Given the description of an element on the screen output the (x, y) to click on. 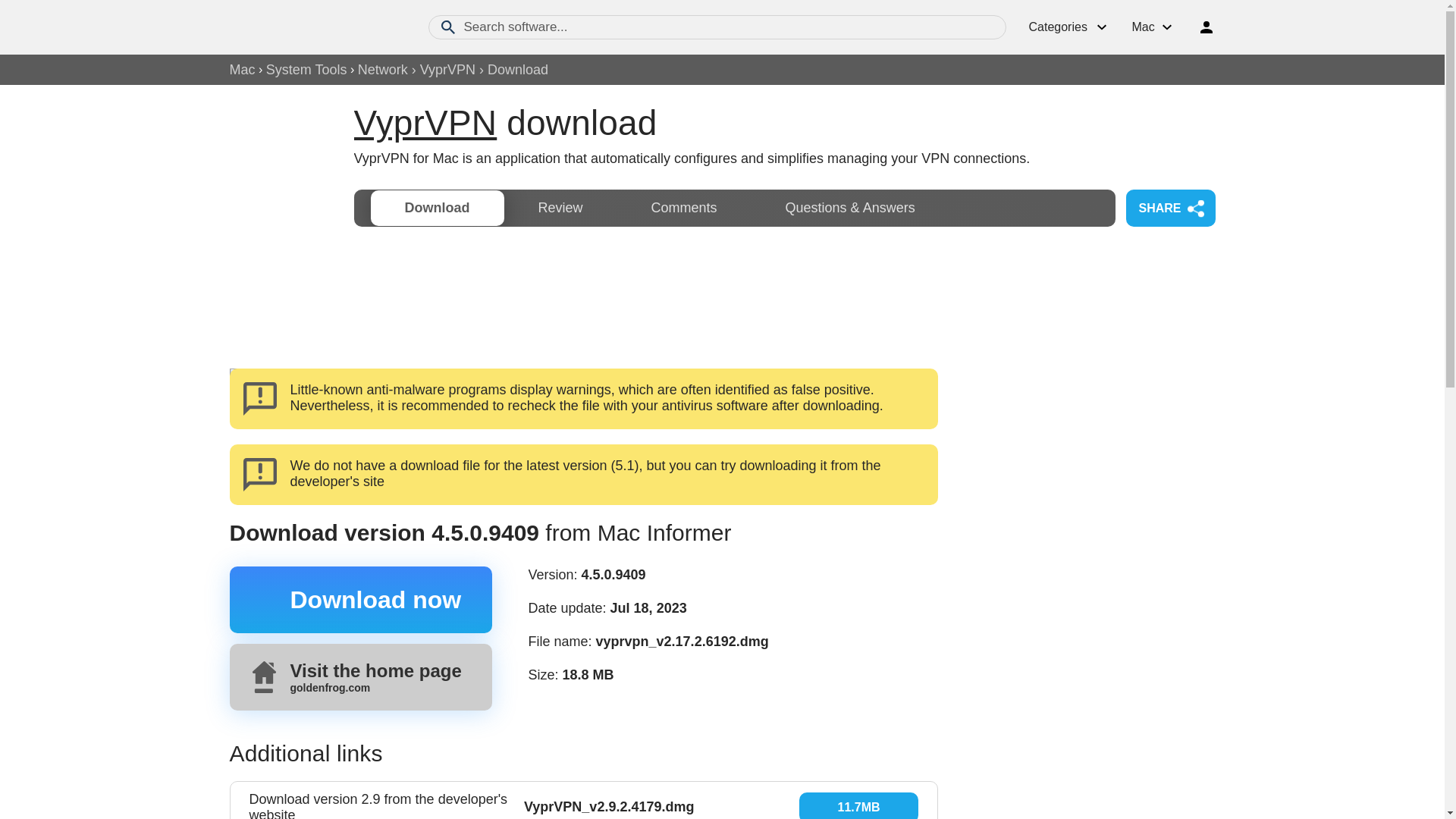
Search software... (717, 27)
VyprVPN (424, 122)
Mac (241, 69)
11.7MB (858, 805)
VyprVPN info (424, 122)
Software downloads and reviews (312, 26)
Review (559, 208)
Download now (360, 599)
Download (436, 208)
System Tools (306, 69)
Download (360, 676)
Network (436, 208)
SHARE (382, 69)
VyprVPN (1169, 207)
